Given the description of an element on the screen output the (x, y) to click on. 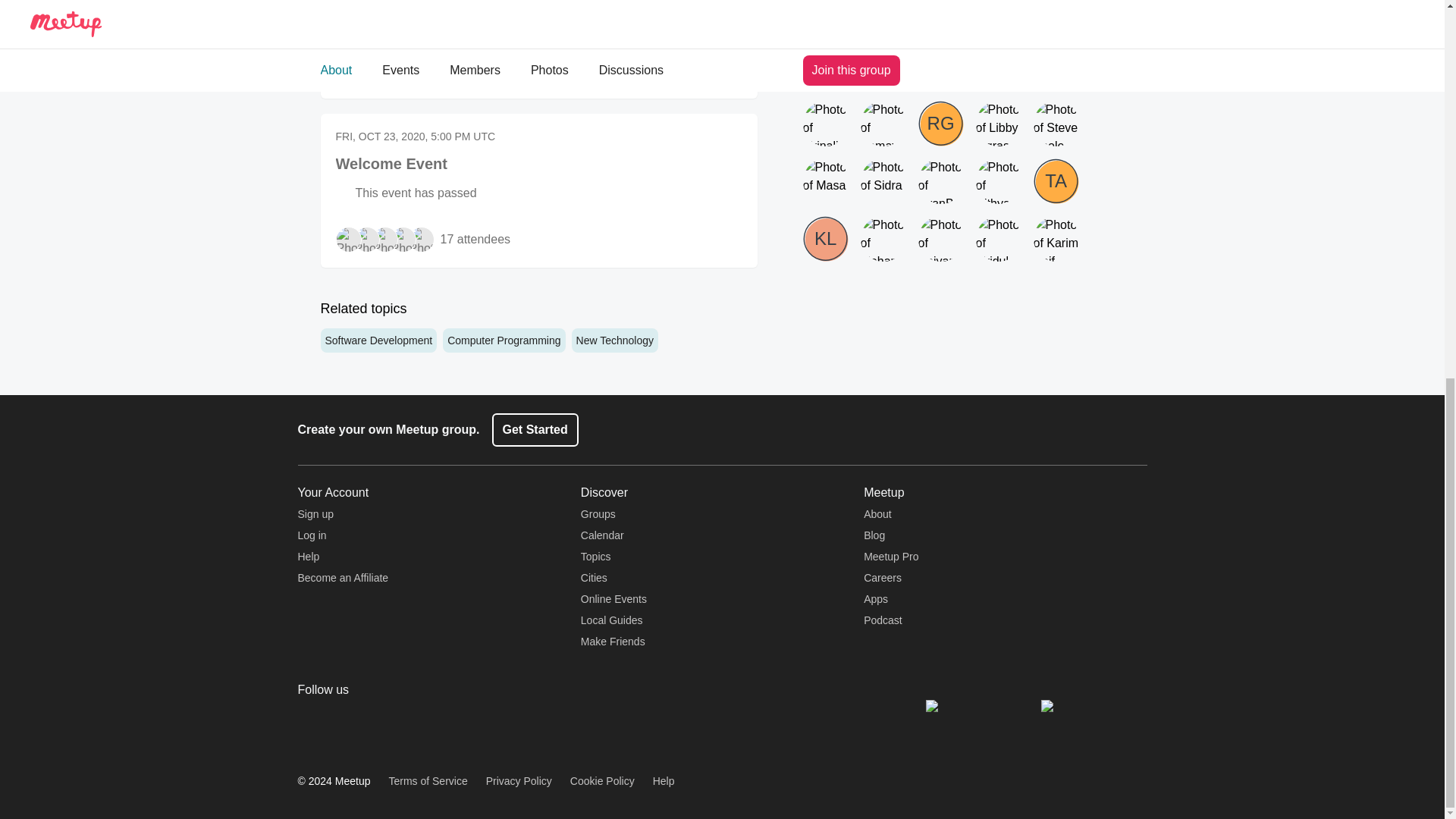
Become an Affiliate (342, 577)
Help (307, 556)
Sign up (315, 513)
New Technology (615, 340)
Software Development (378, 340)
Groups (597, 513)
Calendar (602, 535)
Topics (595, 556)
